Given the description of an element on the screen output the (x, y) to click on. 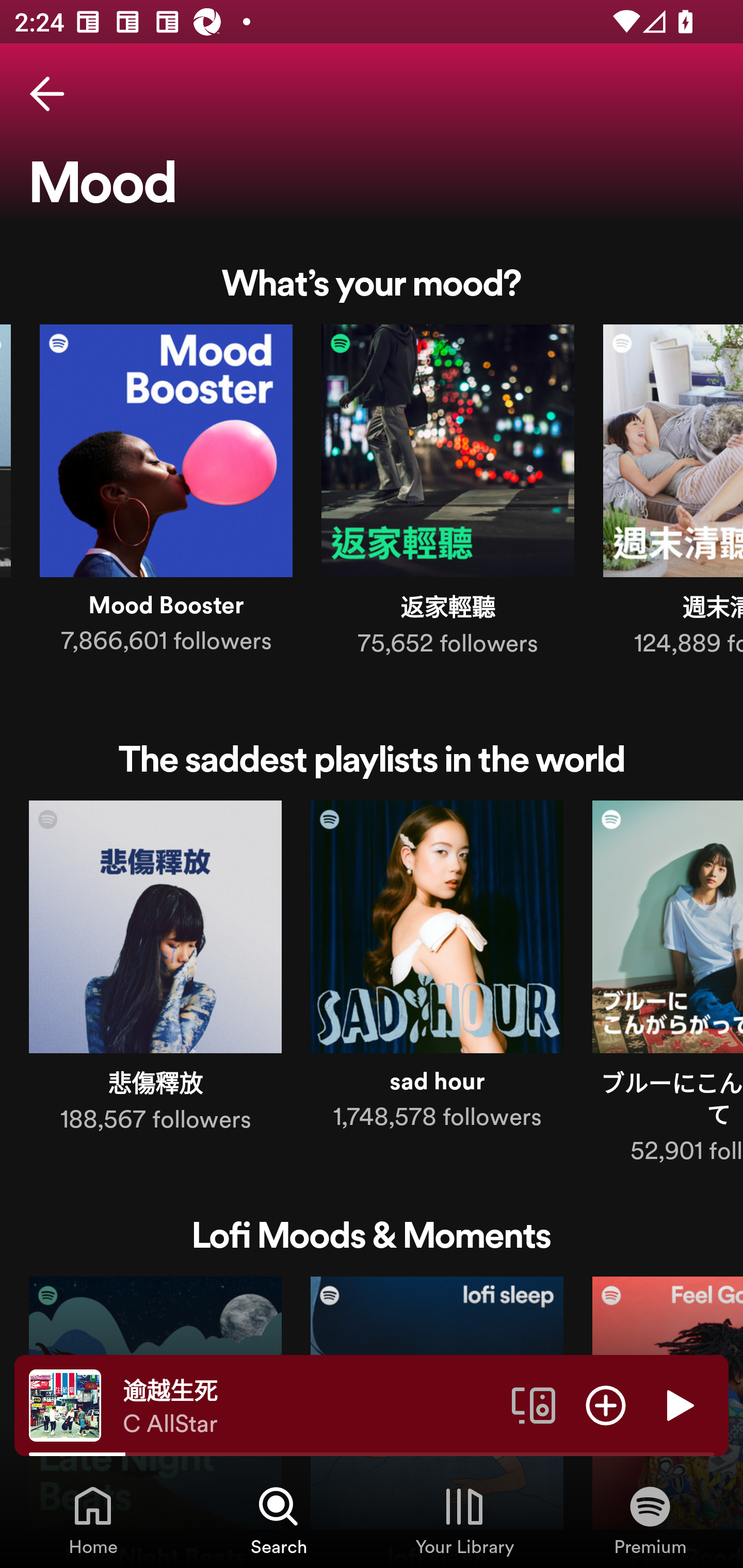
Back (46, 93)
返家輕聽
75,652 followers 返家輕聽 75,652 followers (447, 494)
週末清聽
124,889 followers 週末清聽 124,889 followers (673, 494)
悲傷釋放
188,567 followers 悲傷釋放 188,567 followers (154, 971)
逾越生死 C AllStar (309, 1405)
The cover art of the currently playing track (64, 1404)
Connect to a device. Opens the devices menu (533, 1404)
Add item (605, 1404)
Play (677, 1404)
Home, Tab 1 of 4 Home Home (92, 1519)
Search, Tab 2 of 4 Search Search (278, 1519)
Your Library, Tab 3 of 4 Your Library Your Library (464, 1519)
Premium, Tab 4 of 4 Premium Premium (650, 1519)
